Given the description of an element on the screen output the (x, y) to click on. 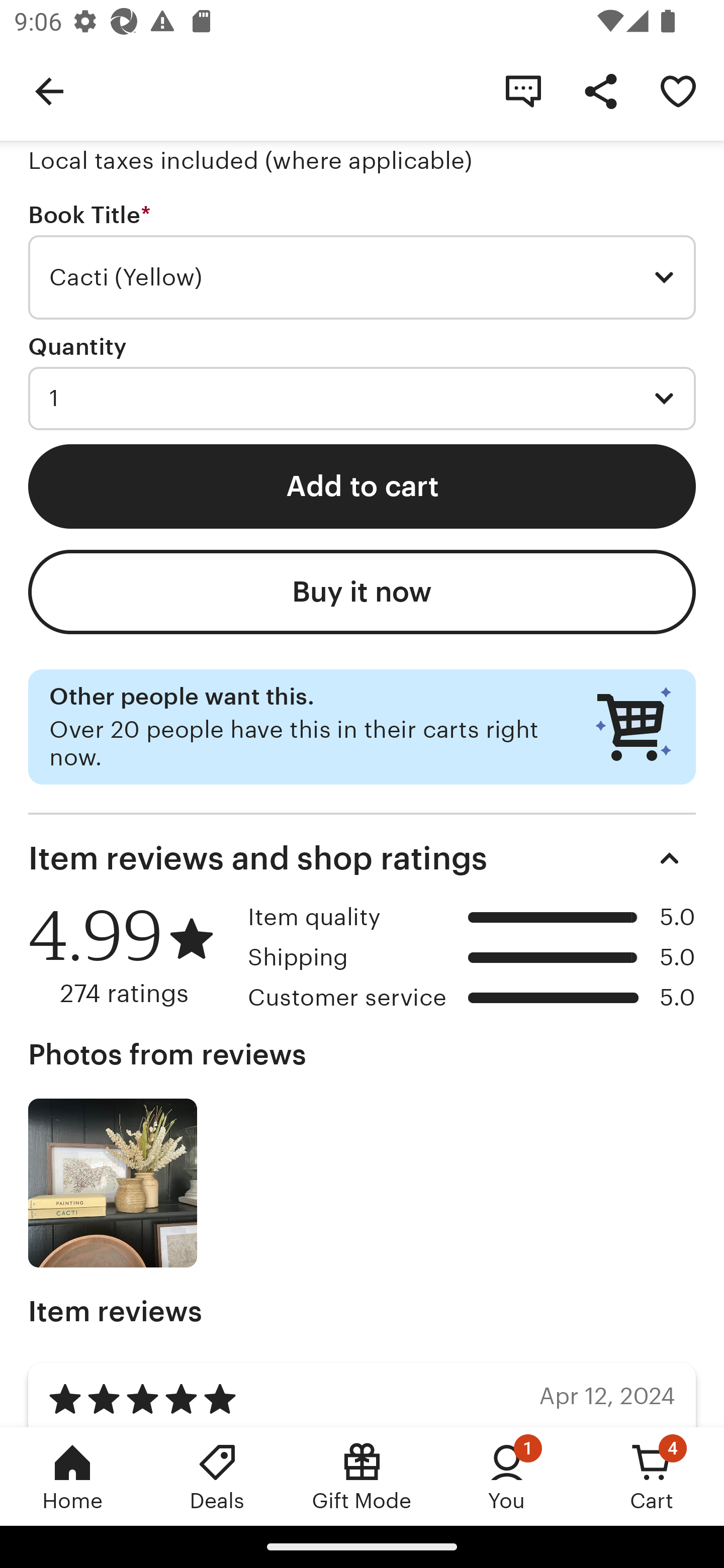
Navigate up (49, 90)
Contact shop (523, 90)
Share (600, 90)
Book Title * Required Cacti (Yellow) (361, 260)
Cacti (Yellow) (361, 277)
Quantity (77, 346)
1 (361, 397)
Add to cart (361, 485)
Buy it now (361, 591)
Item reviews and shop ratings (362, 858)
4.99 274 ratings (130, 956)
Photo from review (112, 1182)
Deals (216, 1475)
Gift Mode (361, 1475)
You, 1 new notification You (506, 1475)
Cart, 4 new notifications Cart (651, 1475)
